Given the description of an element on the screen output the (x, y) to click on. 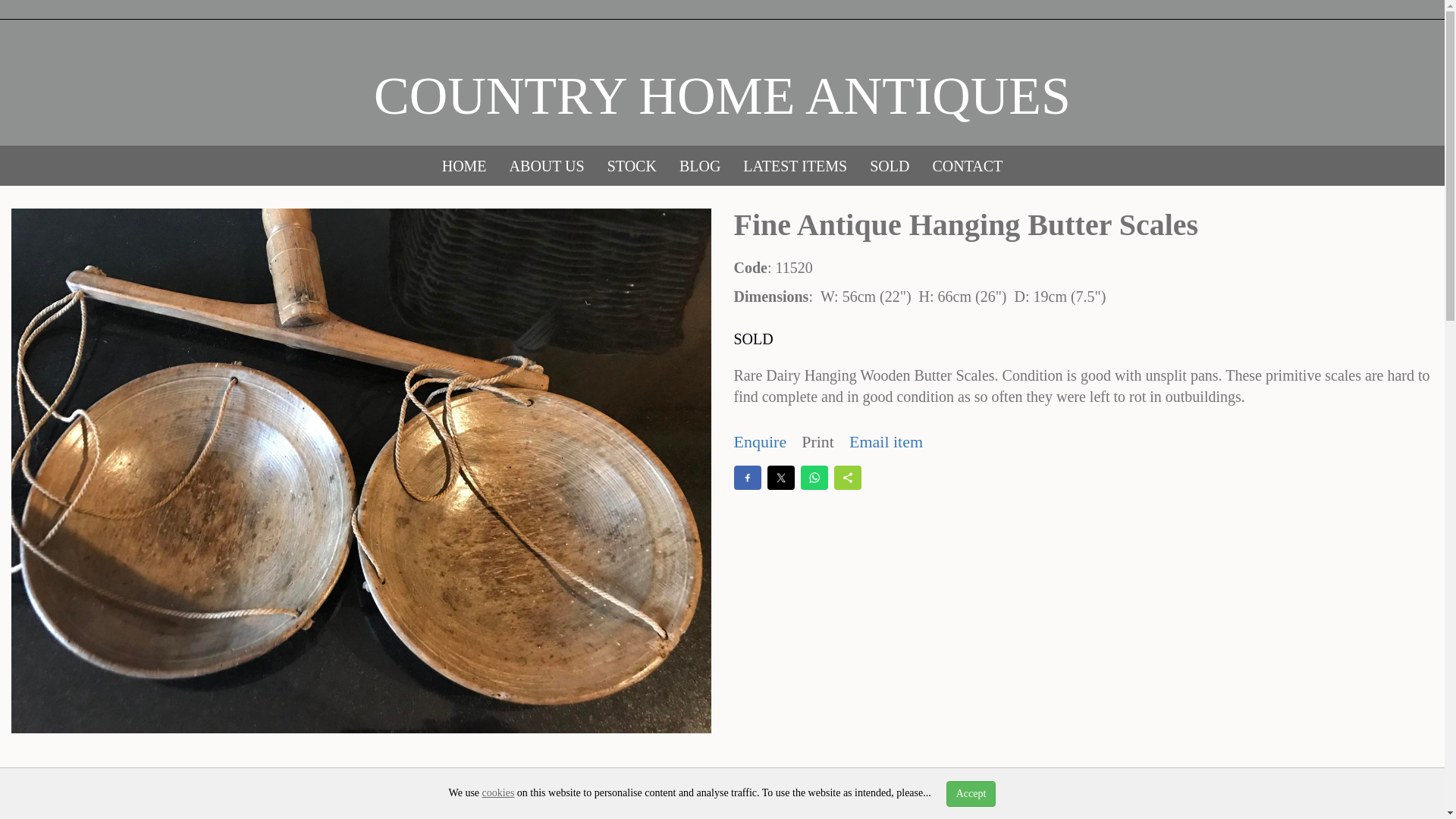
Print (818, 441)
CONTACT (966, 166)
SOLD (889, 166)
HOME (463, 166)
STOCK (631, 166)
COUNTRY HOME ANTIQUES (722, 95)
Enquire (760, 441)
Email item (885, 441)
LATEST ITEMS (795, 166)
ABOUT US (546, 166)
BLOG (700, 166)
